Given the description of an element on the screen output the (x, y) to click on. 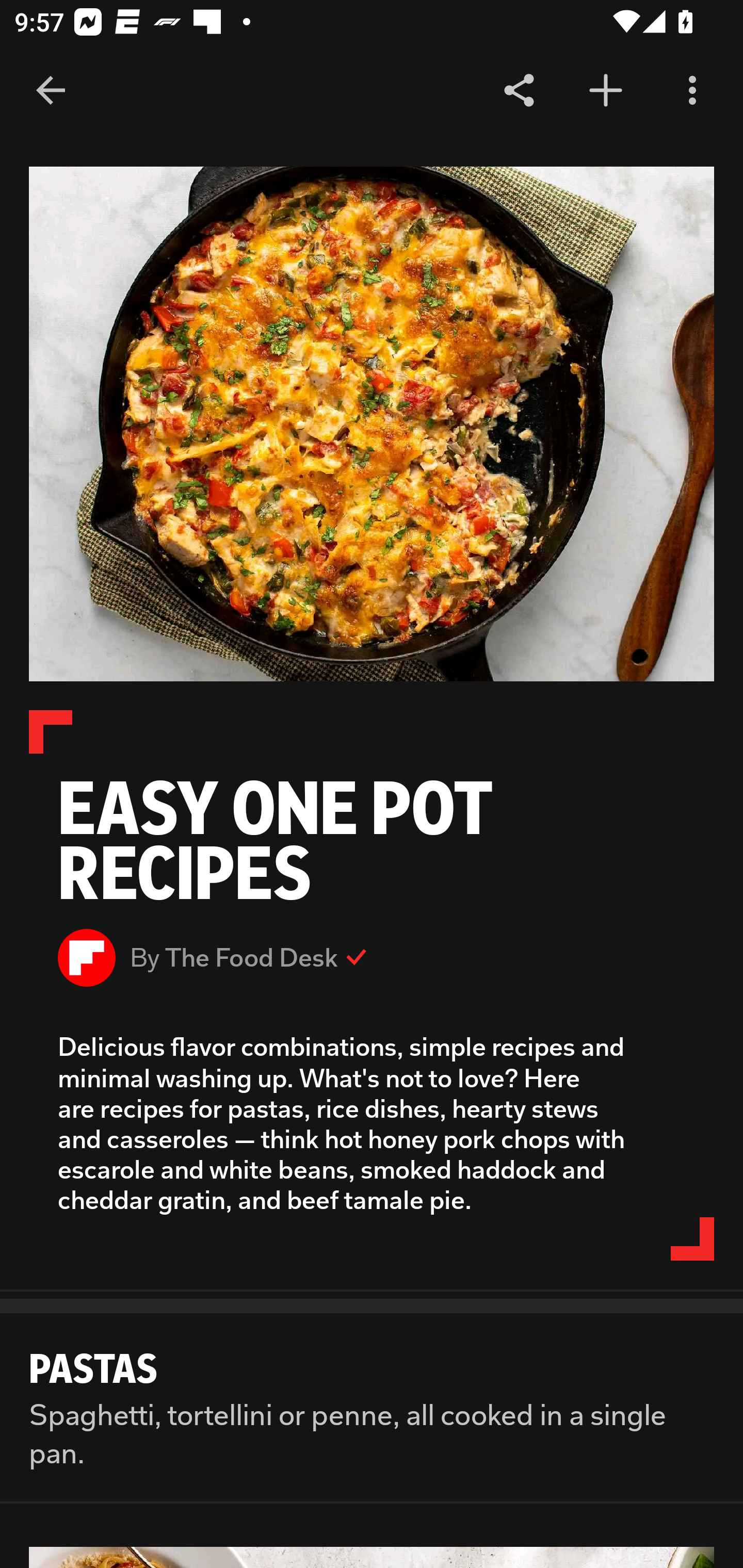
Back (50, 90)
Share (518, 90)
Flip into Magazine (605, 90)
Options (692, 90)
By The Food Desk (371, 957)
